Given the description of an element on the screen output the (x, y) to click on. 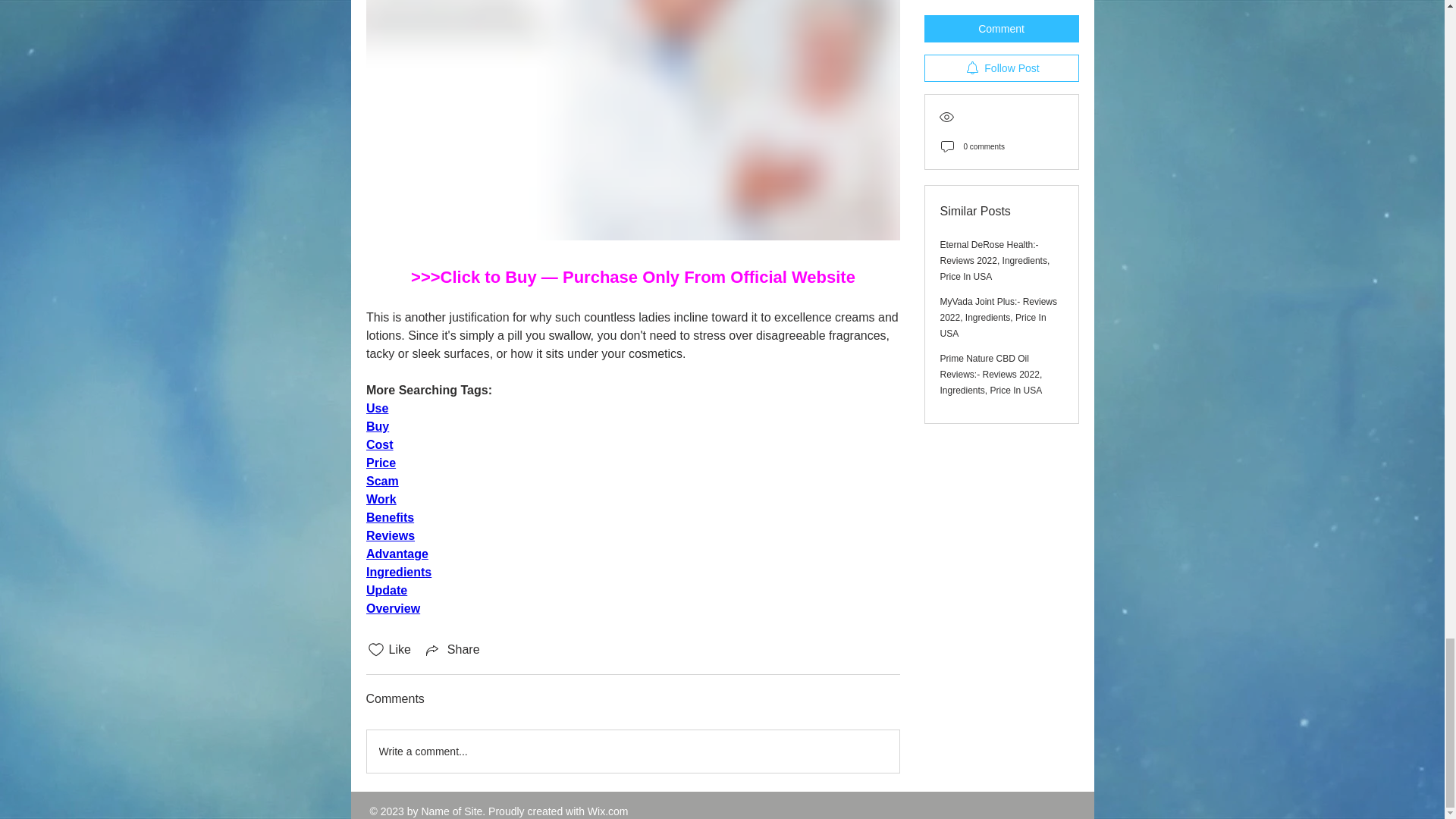
Price (379, 462)
Work (380, 499)
Reviews (389, 535)
Benefits (389, 517)
Share (451, 649)
Buy (376, 426)
Use (376, 408)
Update (385, 590)
Scam (381, 481)
Overview (392, 608)
Write a comment... (632, 751)
Ingredients (397, 571)
Advantage (396, 553)
Cost (379, 444)
